Given the description of an element on the screen output the (x, y) to click on. 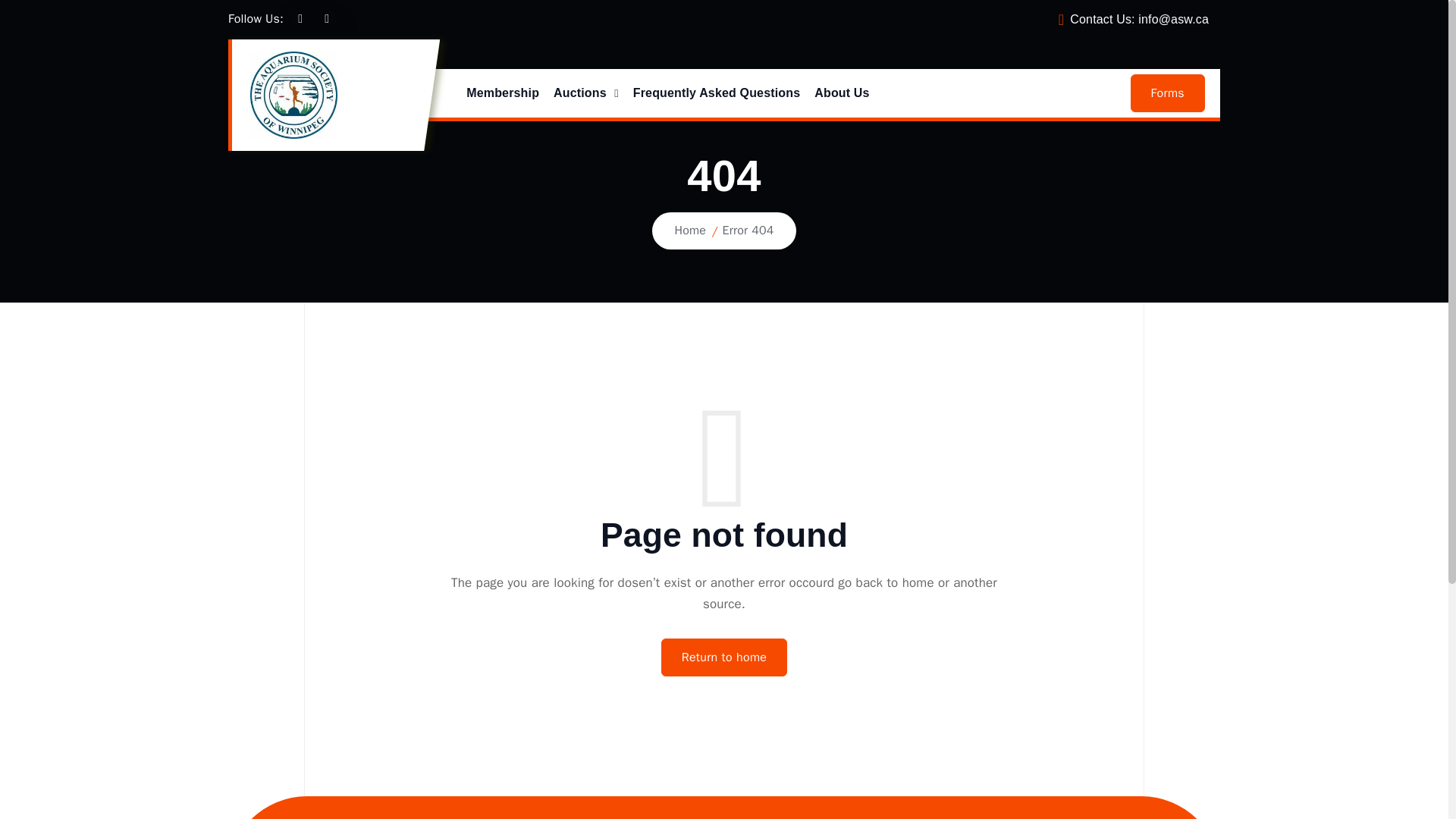
About Us (841, 92)
Membership (501, 92)
Membership (501, 92)
Frequently Asked Questions (716, 92)
About Us (841, 92)
Frequently Asked Questions (716, 92)
Auctions (585, 92)
Home (690, 230)
Error 404 (748, 230)
Auctions (585, 92)
